Given the description of an element on the screen output the (x, y) to click on. 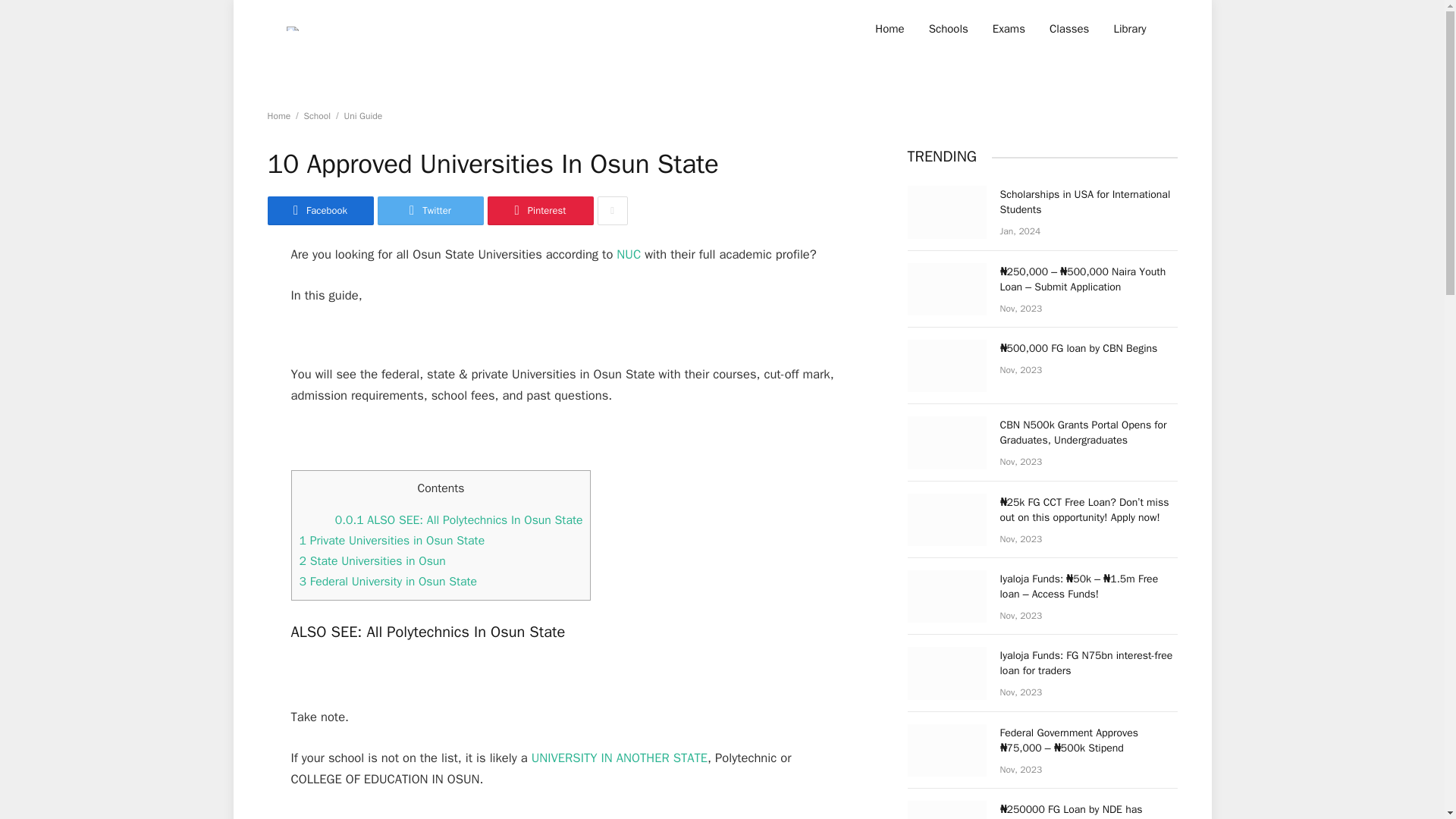
Uni Guide (362, 115)
Schools (948, 28)
2 State Universities in Osun (371, 560)
0.0.1 ALSO SEE: All Polytechnics In Osun State (458, 519)
Exams (1007, 28)
Twitter (430, 210)
Share on Facebook (319, 210)
Facebook (319, 210)
NUC (627, 254)
ACADite Nigeria (292, 27)
Classes (1068, 28)
Pinterest (539, 210)
UNIVERSITY IN ANOTHER STATE (619, 757)
1 Private Universities in Osun State (391, 540)
Share on Pinterest (539, 210)
